Given the description of an element on the screen output the (x, y) to click on. 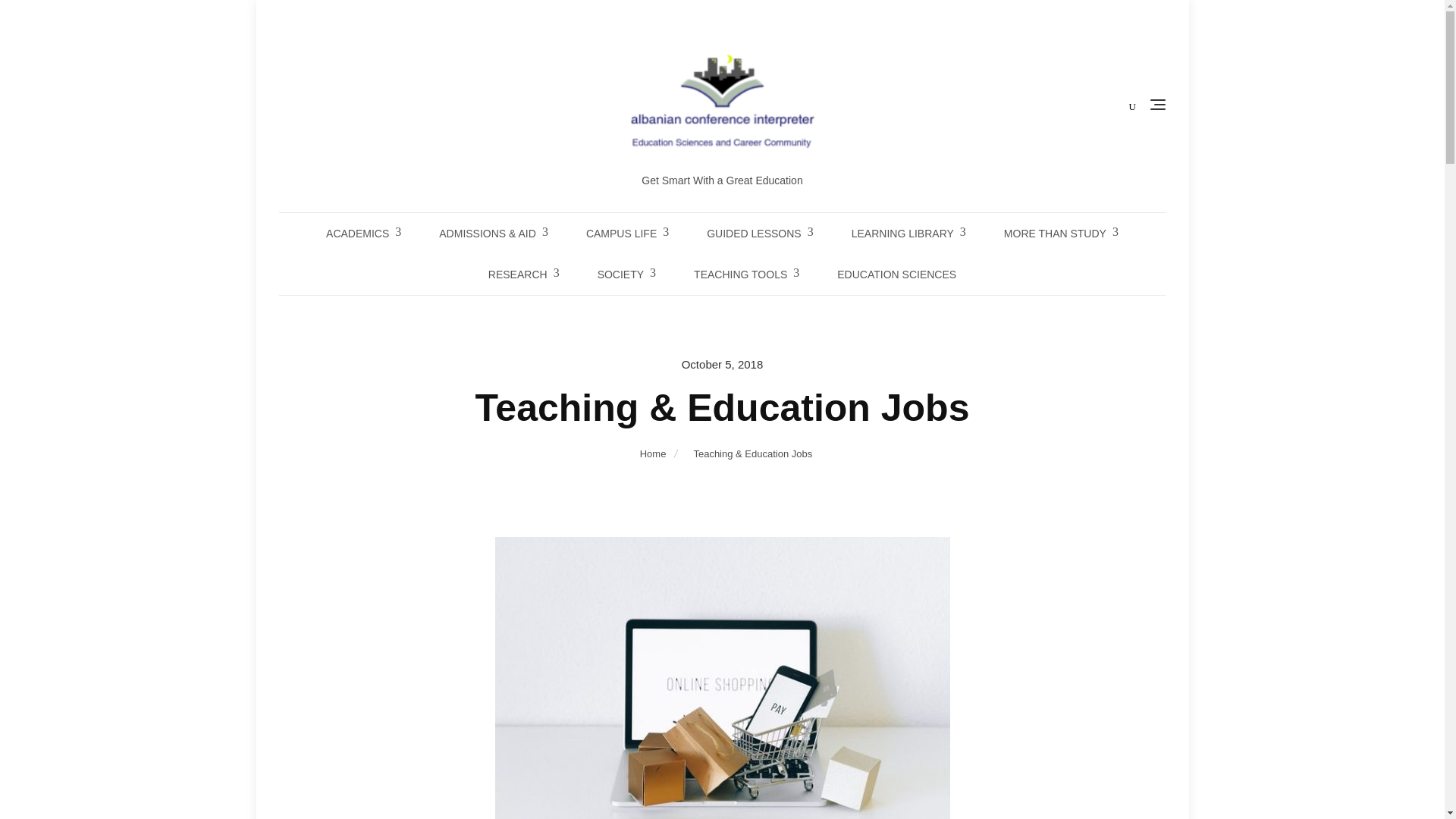
Search (42, 18)
